Given the description of an element on the screen output the (x, y) to click on. 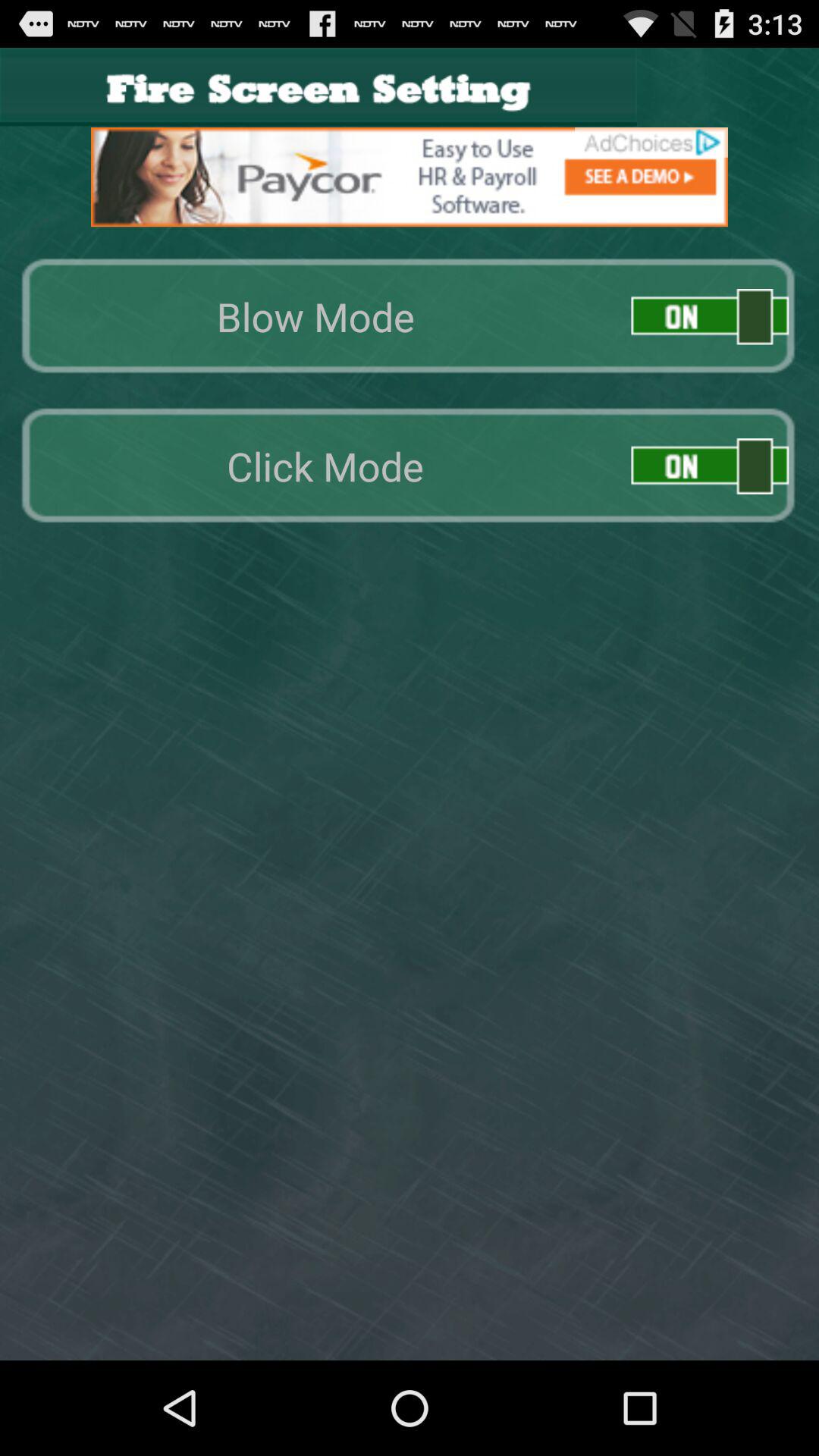
on (709, 316)
